Given the description of an element on the screen output the (x, y) to click on. 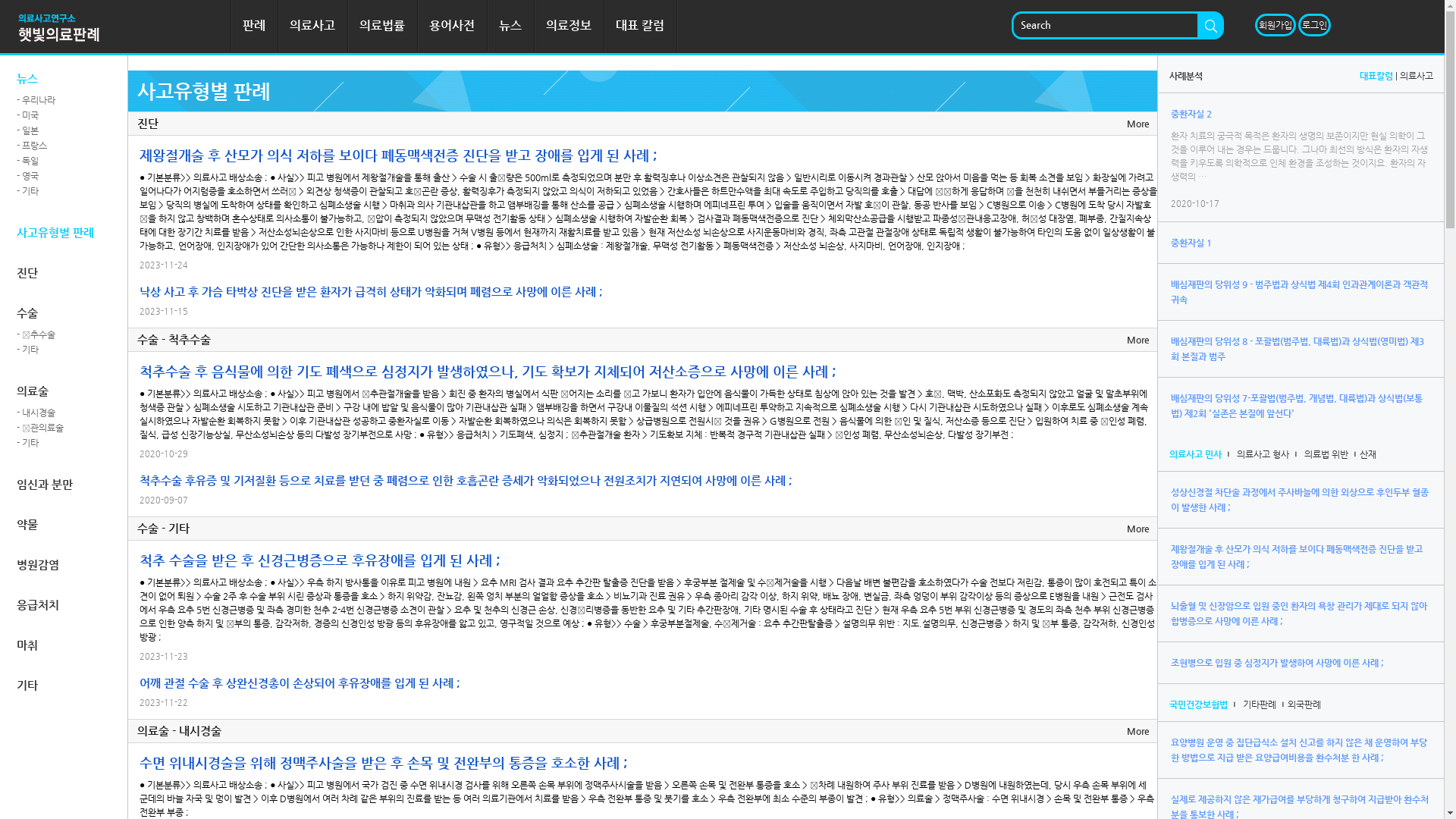
More Element type: text (1137, 123)
More Element type: text (1137, 730)
More Element type: text (1137, 339)
More Element type: text (1137, 528)
